Given the description of an element on the screen output the (x, y) to click on. 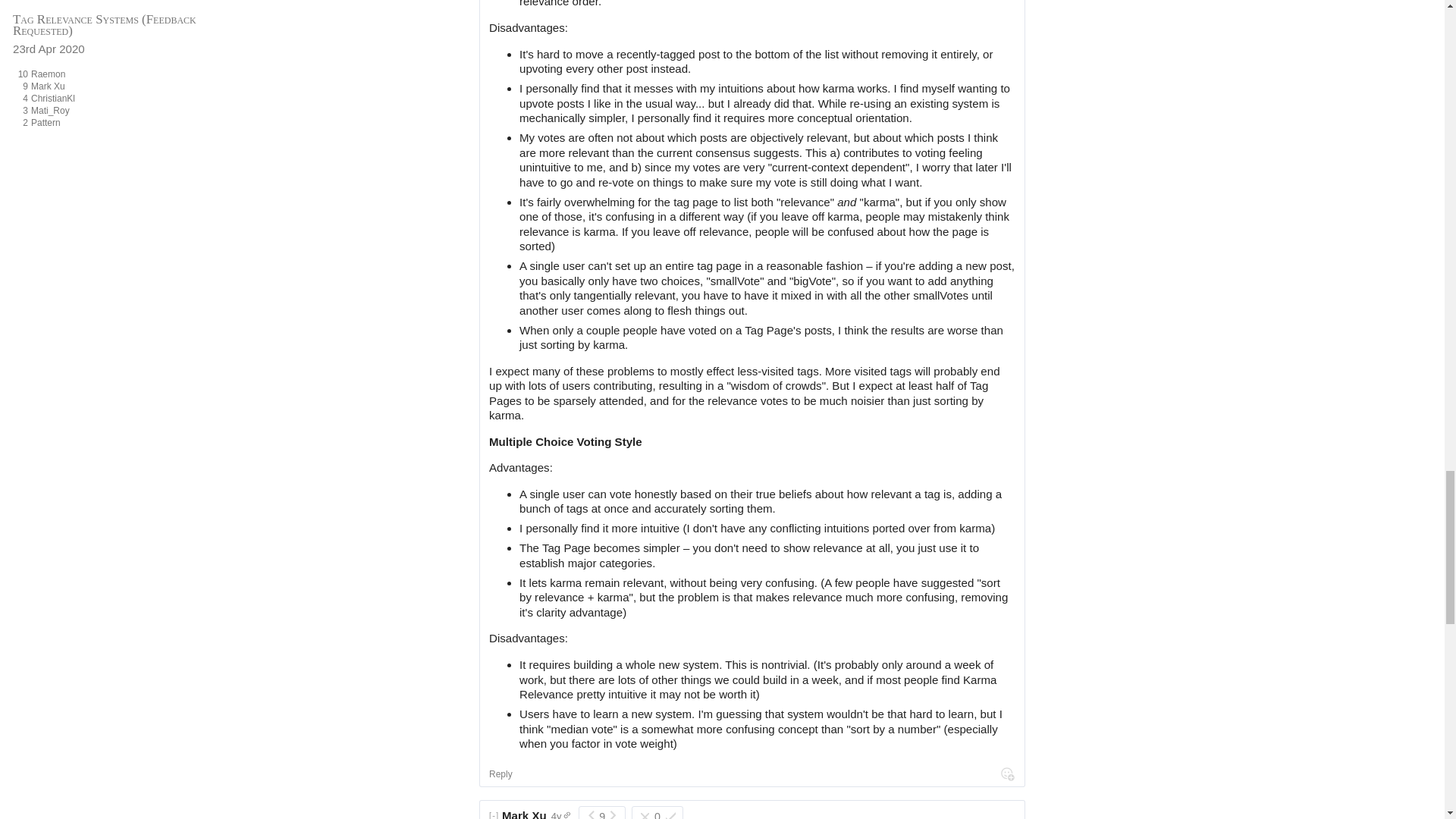
Reply (500, 774)
Mark Xu (524, 814)
